Given the description of an element on the screen output the (x, y) to click on. 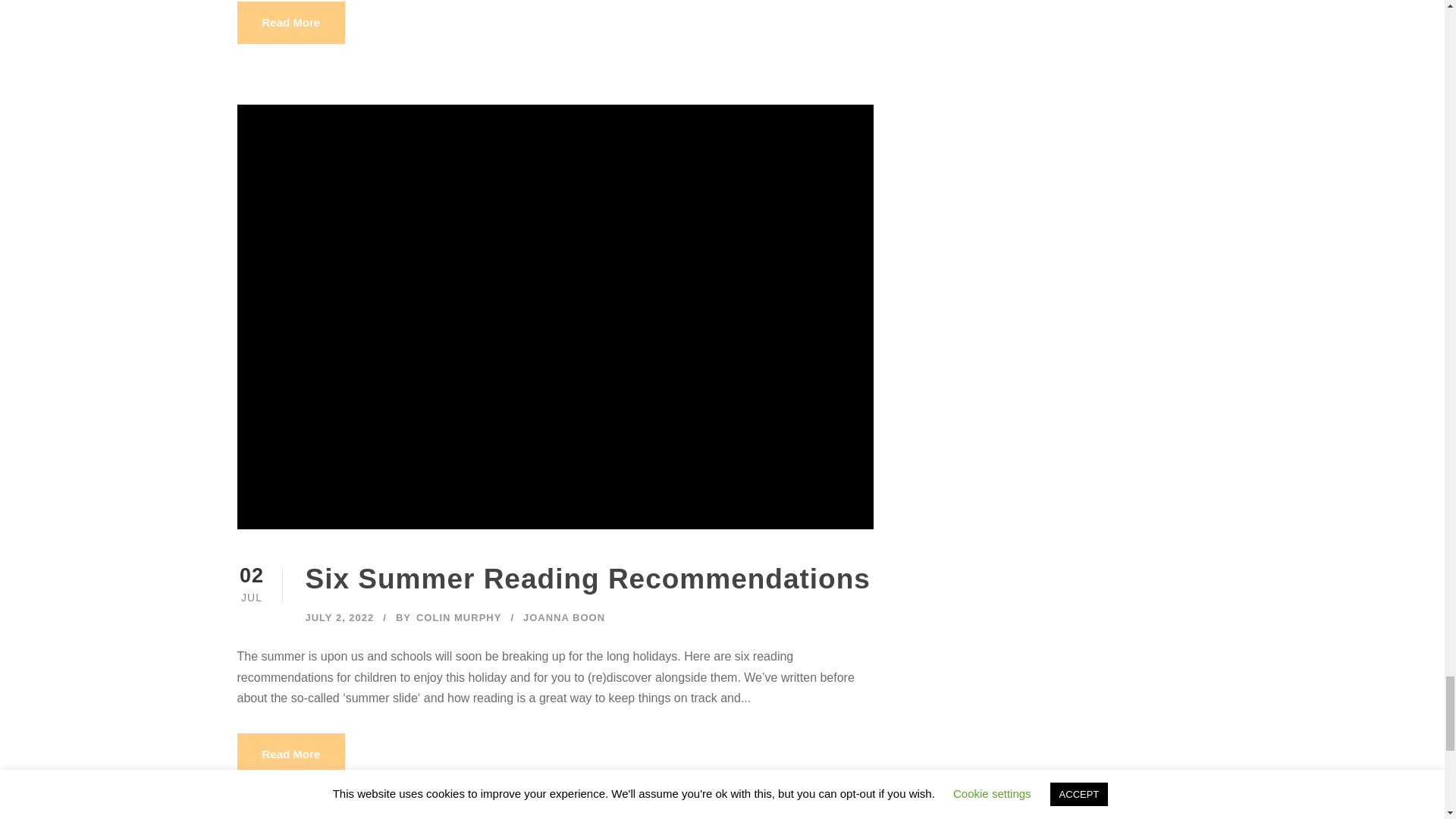
Posts by Colin Murphy (458, 617)
